Given the description of an element on the screen output the (x, y) to click on. 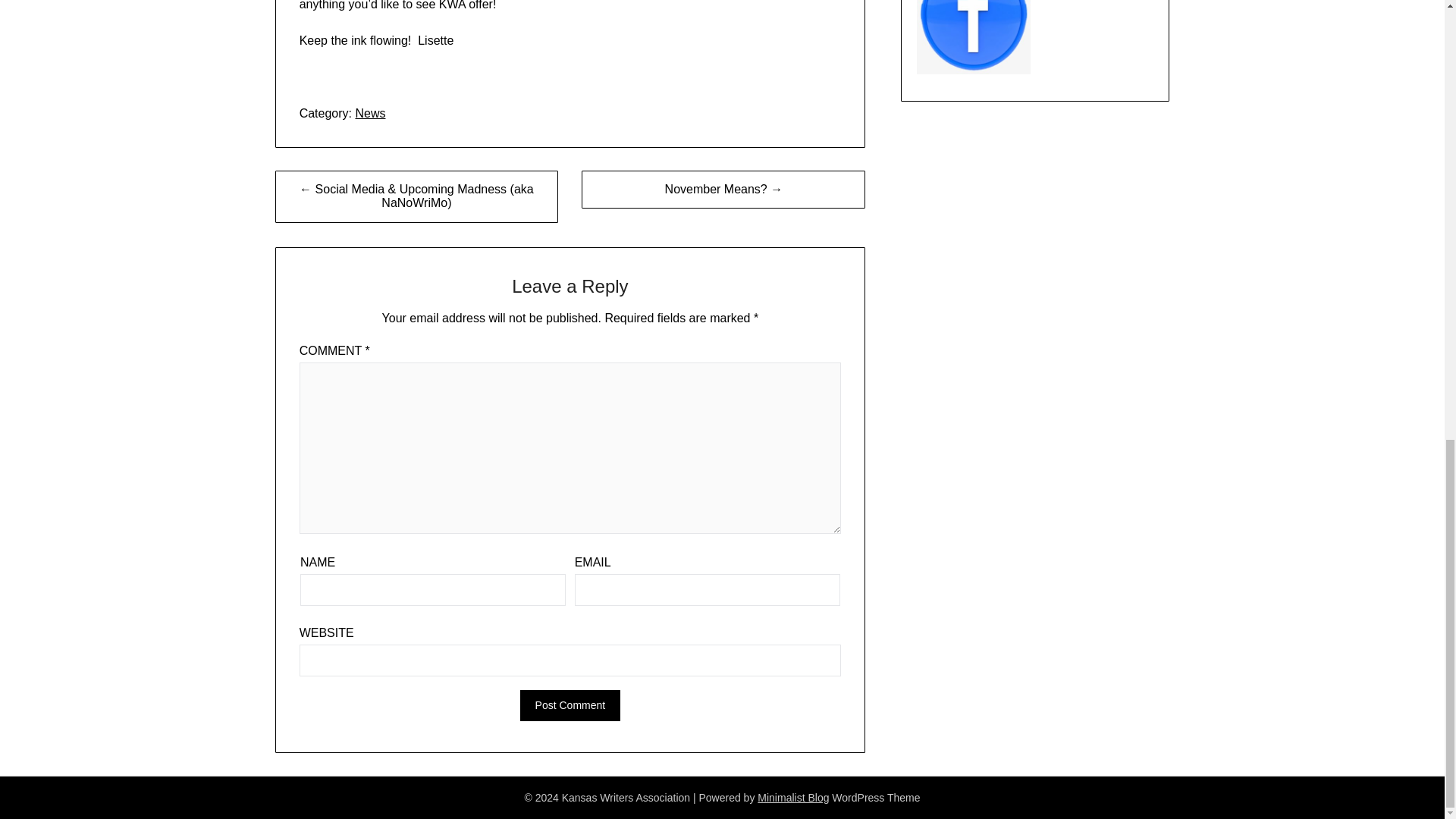
Post Comment (570, 705)
Minimalist Blog (792, 797)
News (370, 113)
Post Comment (570, 705)
